Given the description of an element on the screen output the (x, y) to click on. 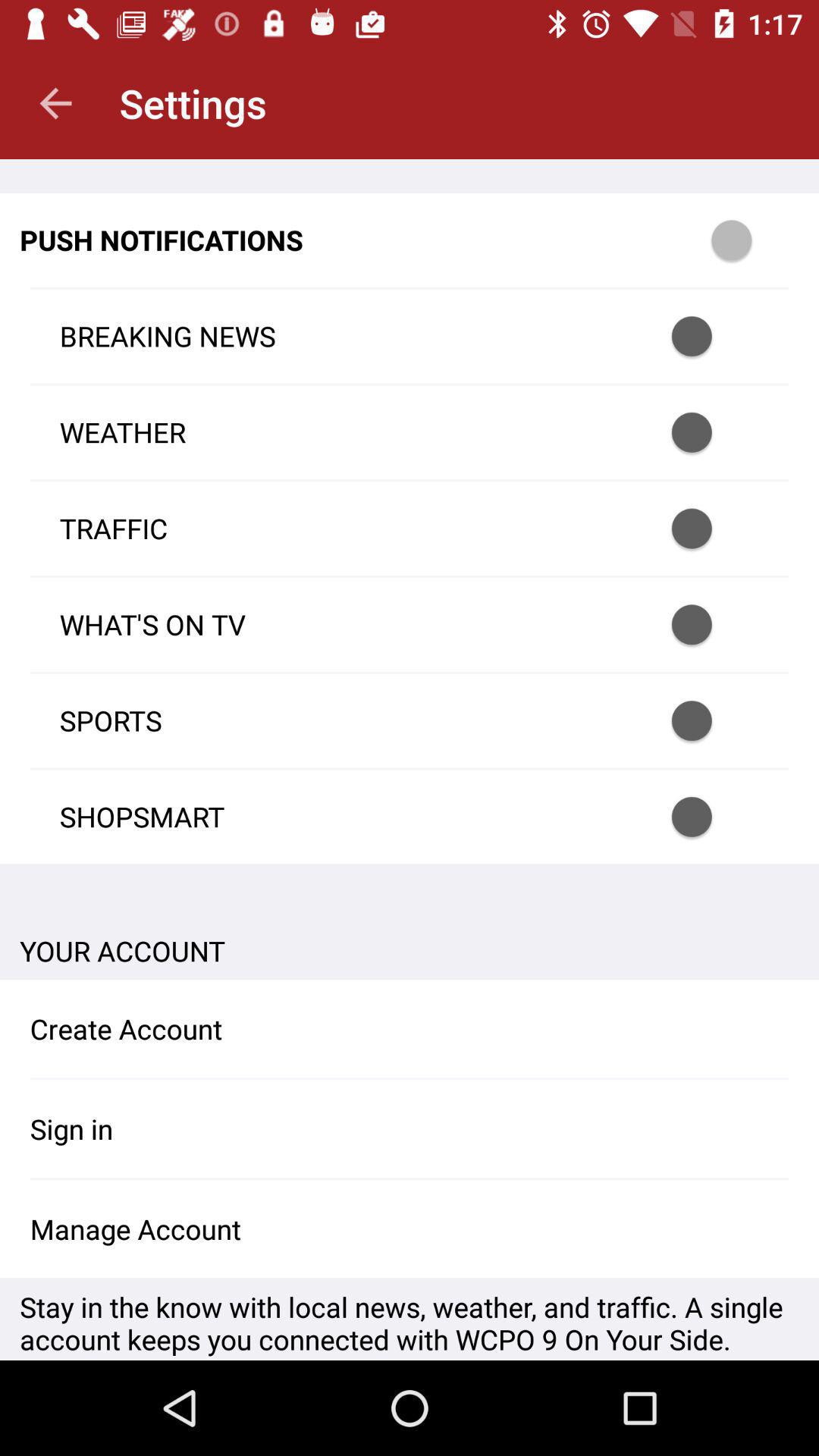
toggle traffic notifications (711, 528)
